Given the description of an element on the screen output the (x, y) to click on. 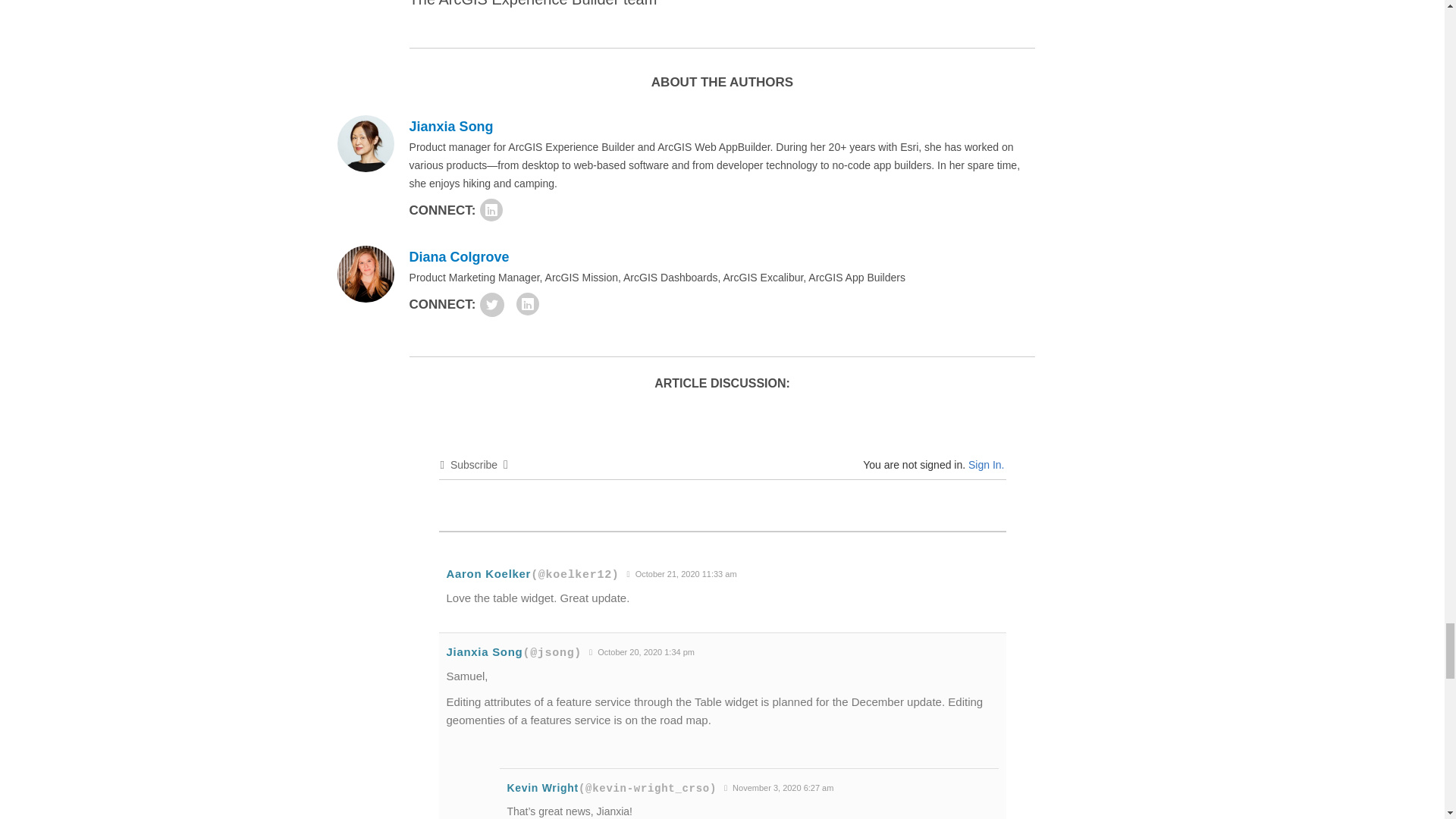
Jianxia Song (451, 126)
Sign In. (986, 464)
Diana Colgrove (459, 256)
